Given the description of an element on the screen output the (x, y) to click on. 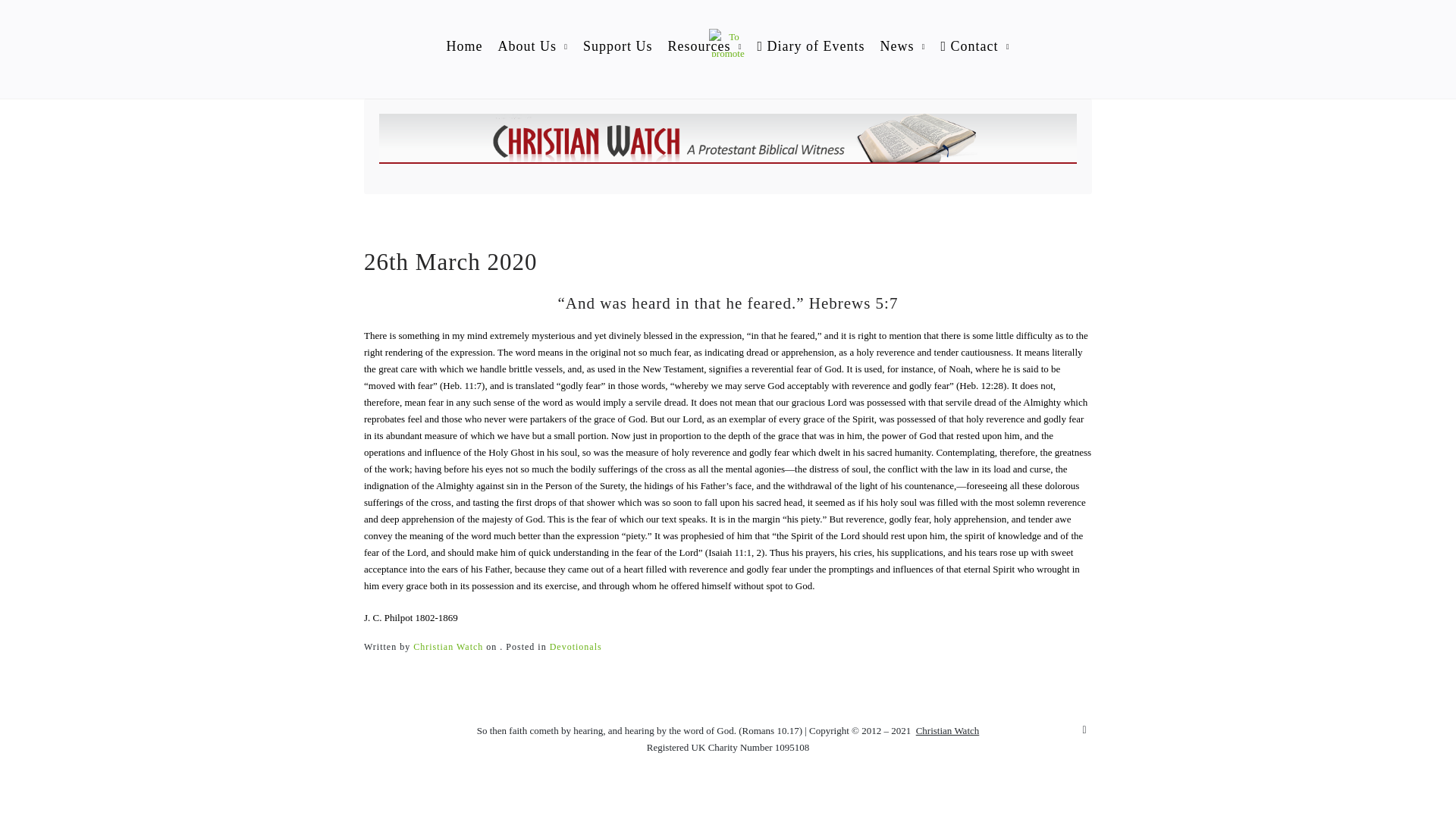
Contact (974, 46)
Christian Watch (448, 646)
Resources (704, 46)
Christian Watch (448, 646)
Support Us (618, 46)
Diary of Events (810, 46)
Christian Watch (947, 730)
Home (463, 46)
Devotionals (576, 646)
News (902, 46)
